Given the description of an element on the screen output the (x, y) to click on. 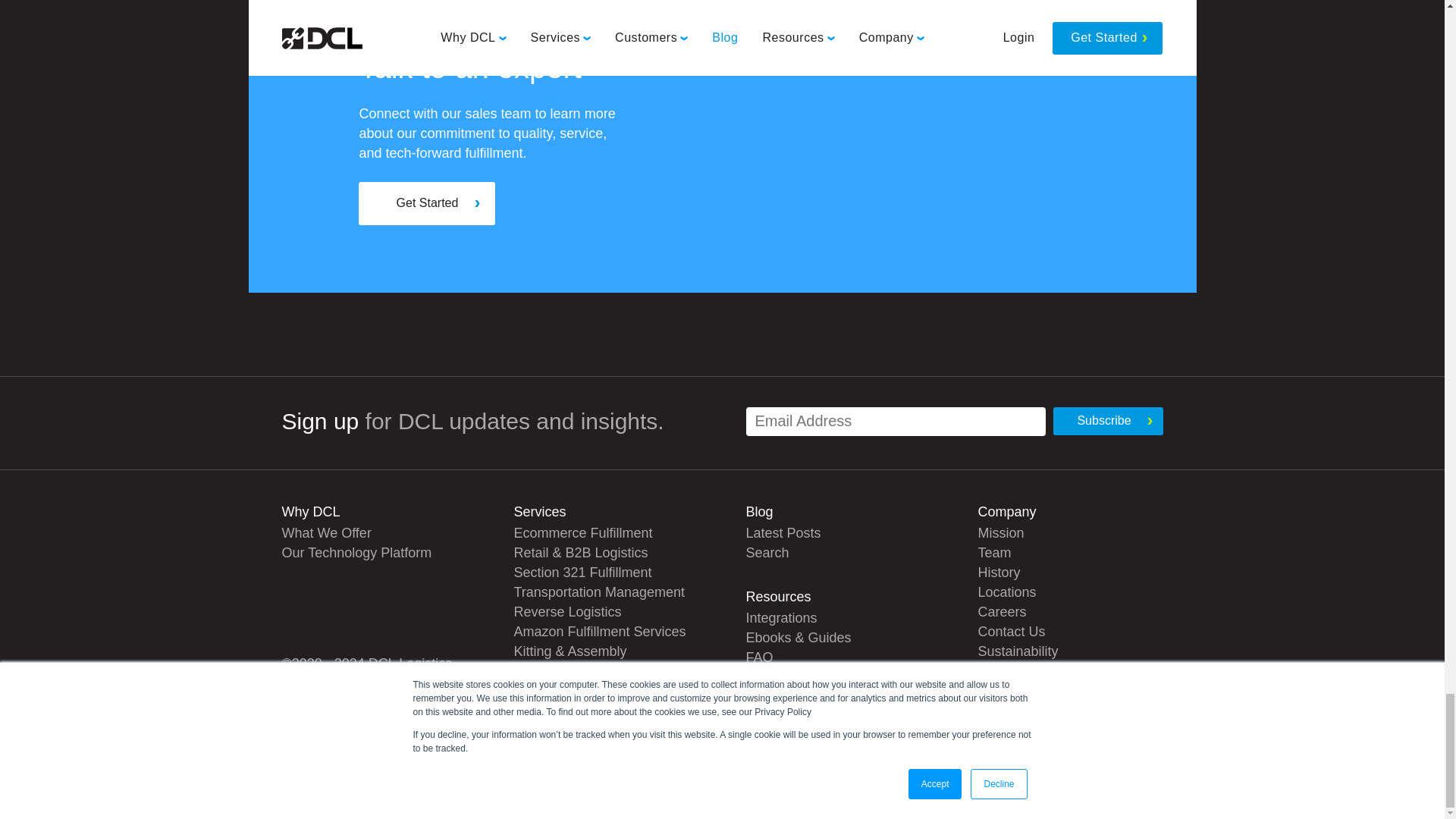
Subscribe (1106, 420)
